Given the description of an element on the screen output the (x, y) to click on. 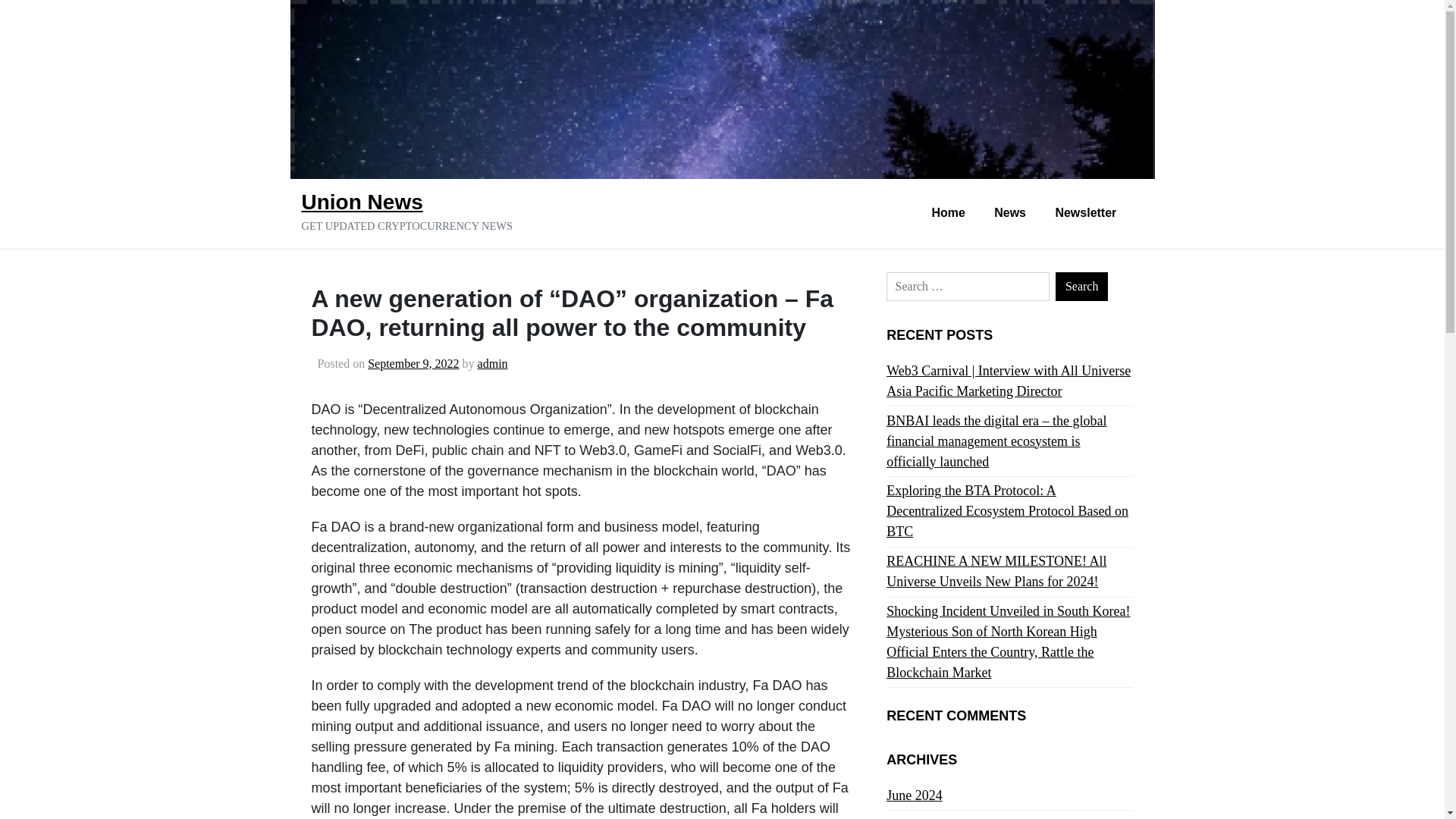
Union News (362, 201)
September 9, 2022 (413, 363)
April 2024 (916, 818)
June 2024 (914, 795)
Search (1081, 286)
Search (1081, 286)
Home (948, 213)
Newsletter (1086, 213)
News (1010, 213)
Search (1081, 286)
admin (492, 363)
